Given the description of an element on the screen output the (x, y) to click on. 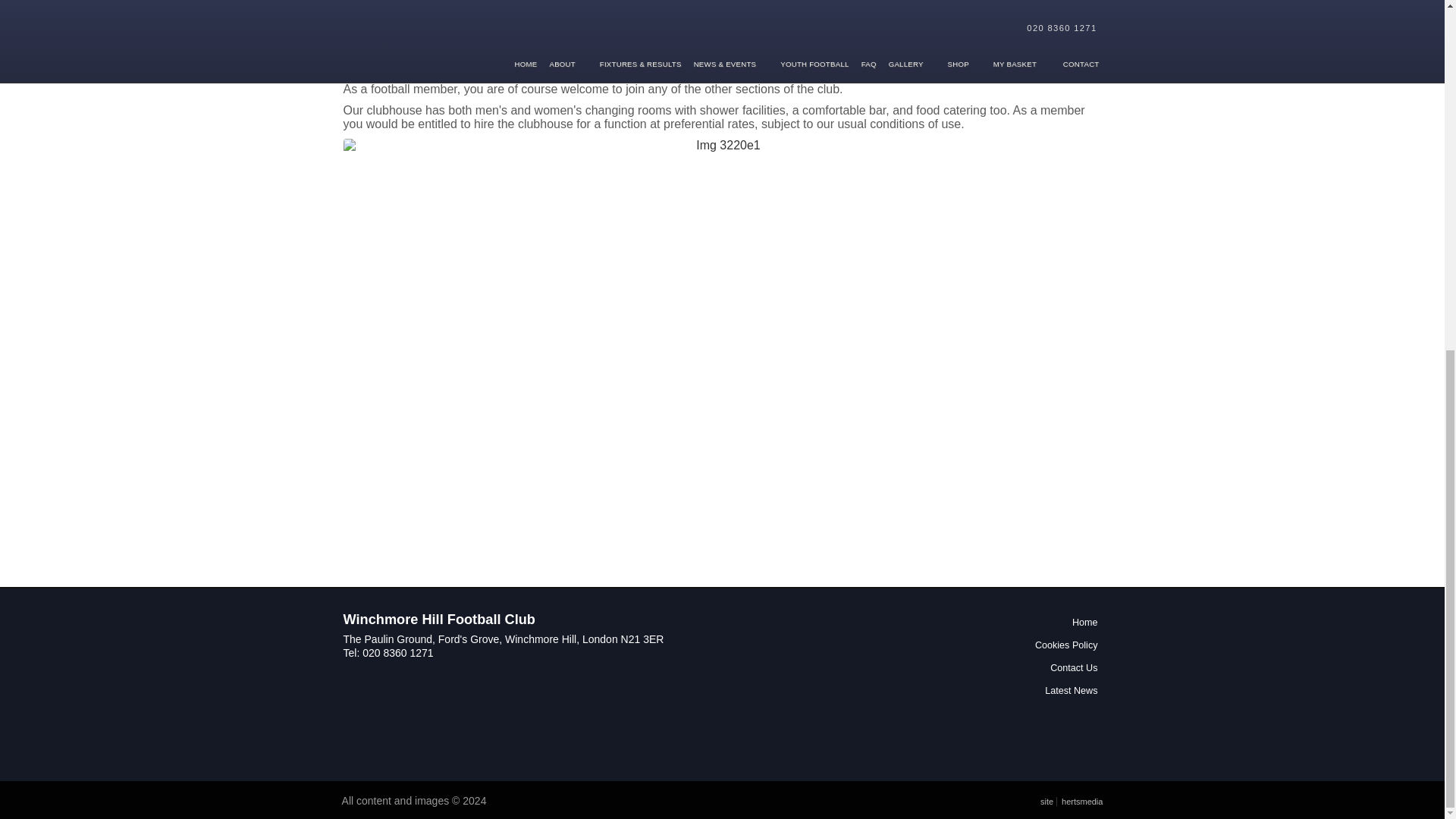
Latest News (1036, 690)
Contact Us (1036, 667)
site hertsmedia (1071, 800)
Cookies Policy (1036, 644)
Home (1036, 621)
